Given the description of an element on the screen output the (x, y) to click on. 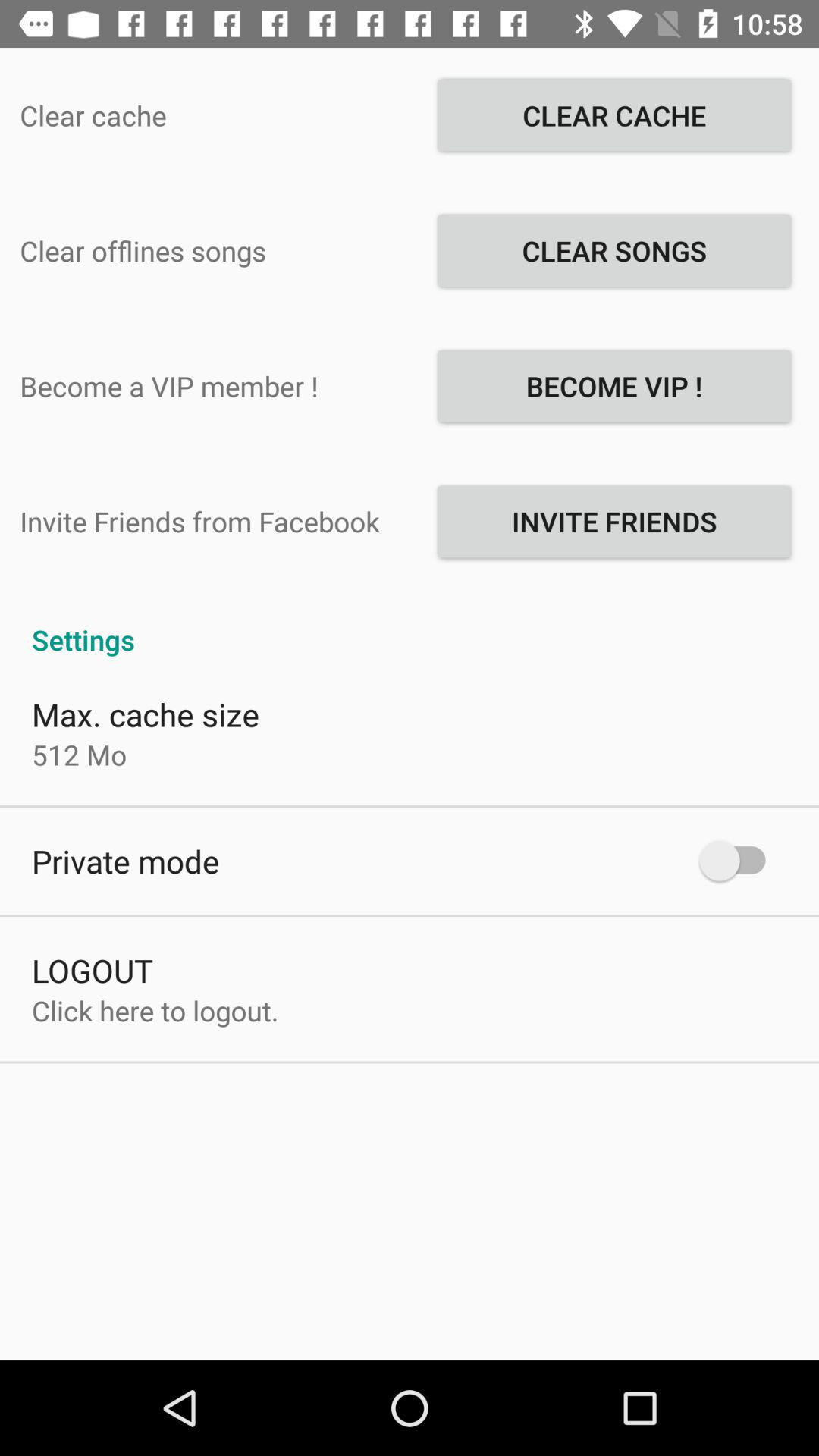
scroll until the 512 mo icon (78, 754)
